Given the description of an element on the screen output the (x, y) to click on. 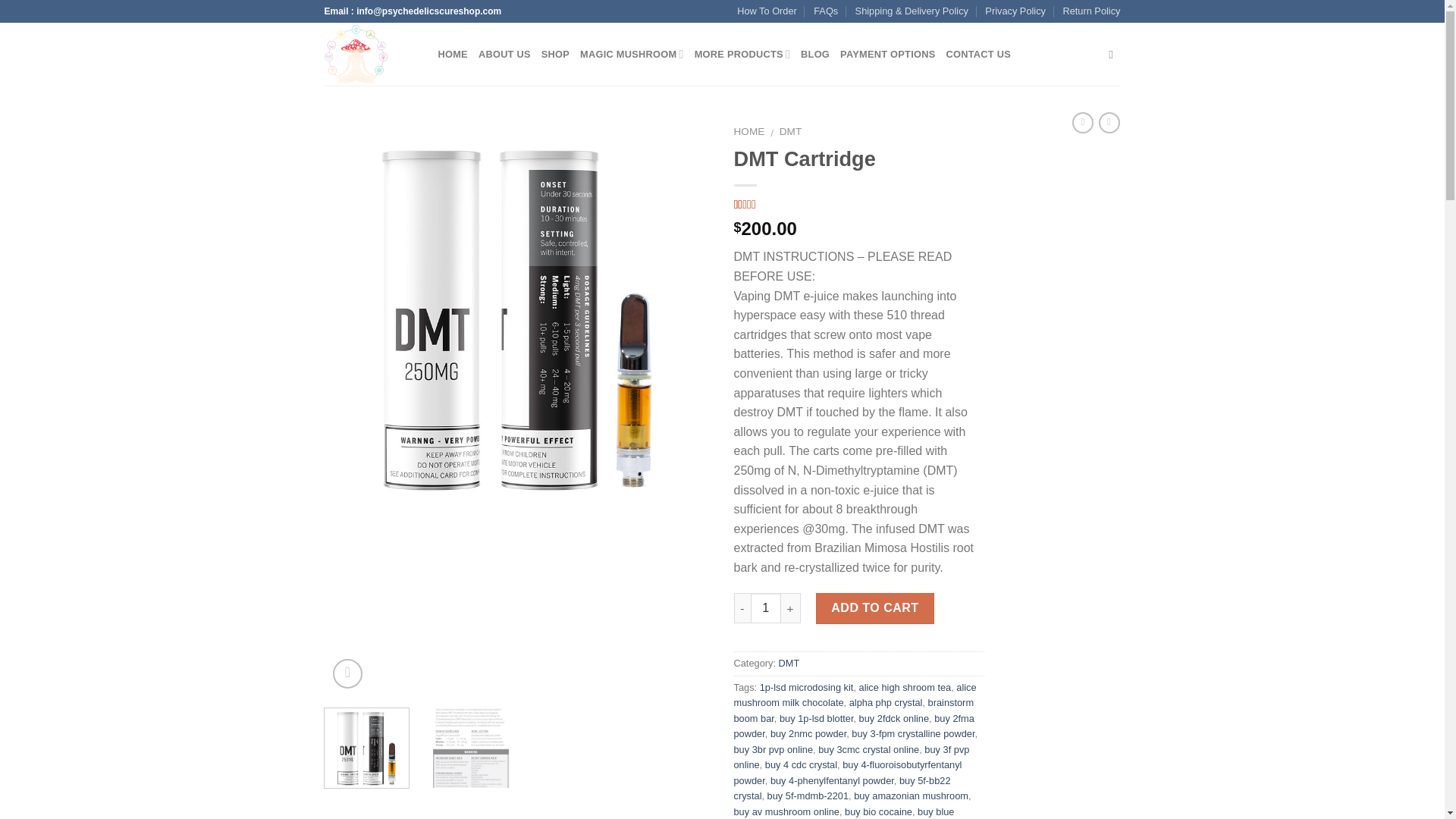
Privacy Policy (1015, 11)
Qty (765, 607)
Zoom (347, 673)
MORE PRODUCTS (742, 54)
HOME (452, 54)
CONTACT US (978, 54)
HOME (749, 131)
Return Policy (1090, 11)
DMT (790, 131)
